Given the description of an element on the screen output the (x, y) to click on. 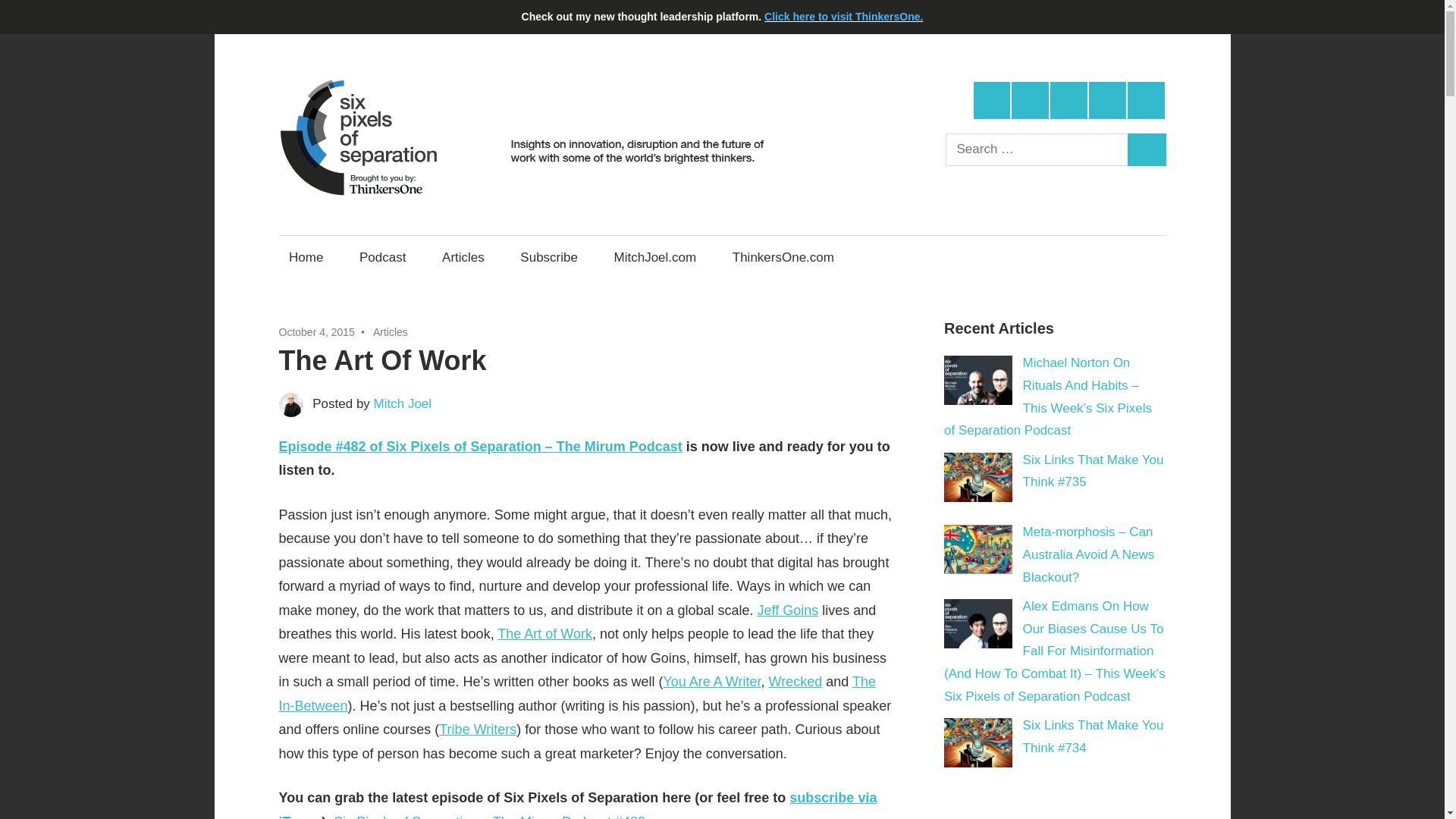
Twitter (992, 99)
Podcast (382, 257)
Search (1146, 149)
Search for: (1036, 149)
subscribe via iTunes (578, 804)
View all posts by Mitch Joel (403, 403)
Home (306, 257)
The In-Between (577, 693)
Jeff Goins (787, 610)
Facebook (1029, 99)
Click here to visit ThinkersOne. (843, 16)
October 4, 2015 (317, 331)
LinkedIn (1068, 99)
Wrecked (795, 681)
You Are A Writer (711, 681)
